Given the description of an element on the screen output the (x, y) to click on. 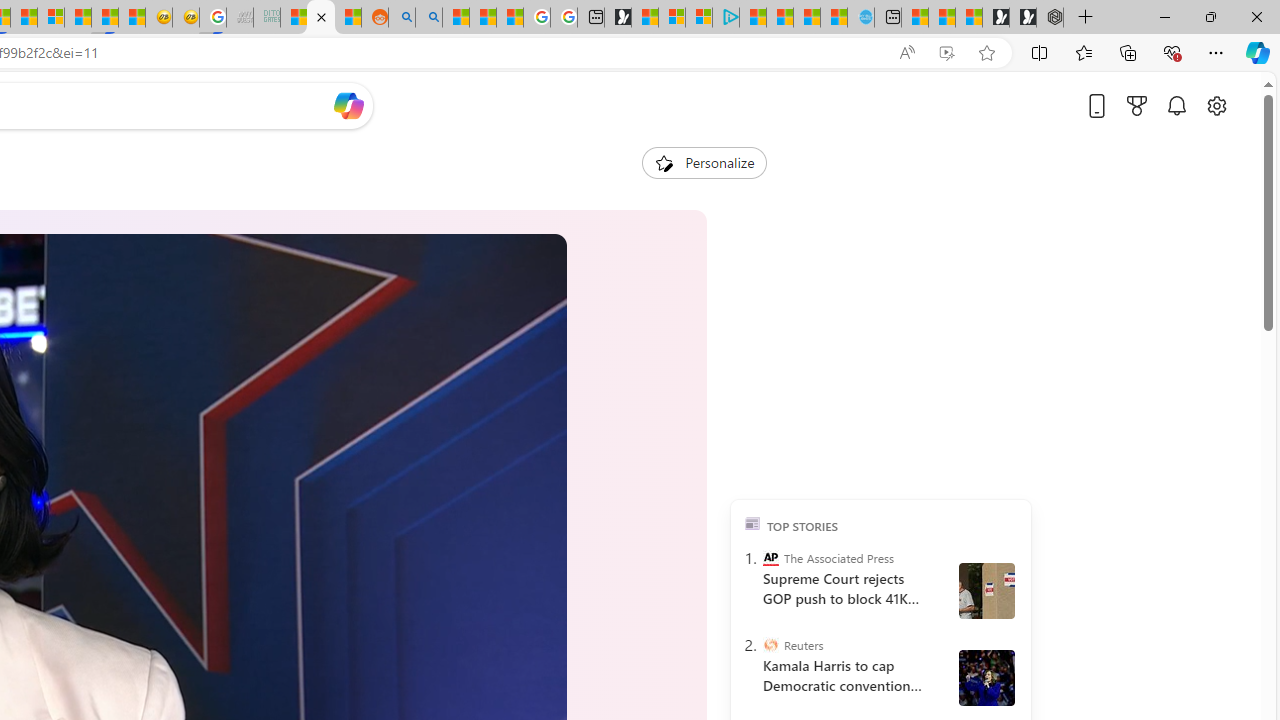
Home | Sky Blue Bikes - Sky Blue Bikes (860, 17)
The Associated Press (770, 557)
Personalize (703, 162)
